Given the description of an element on the screen output the (x, y) to click on. 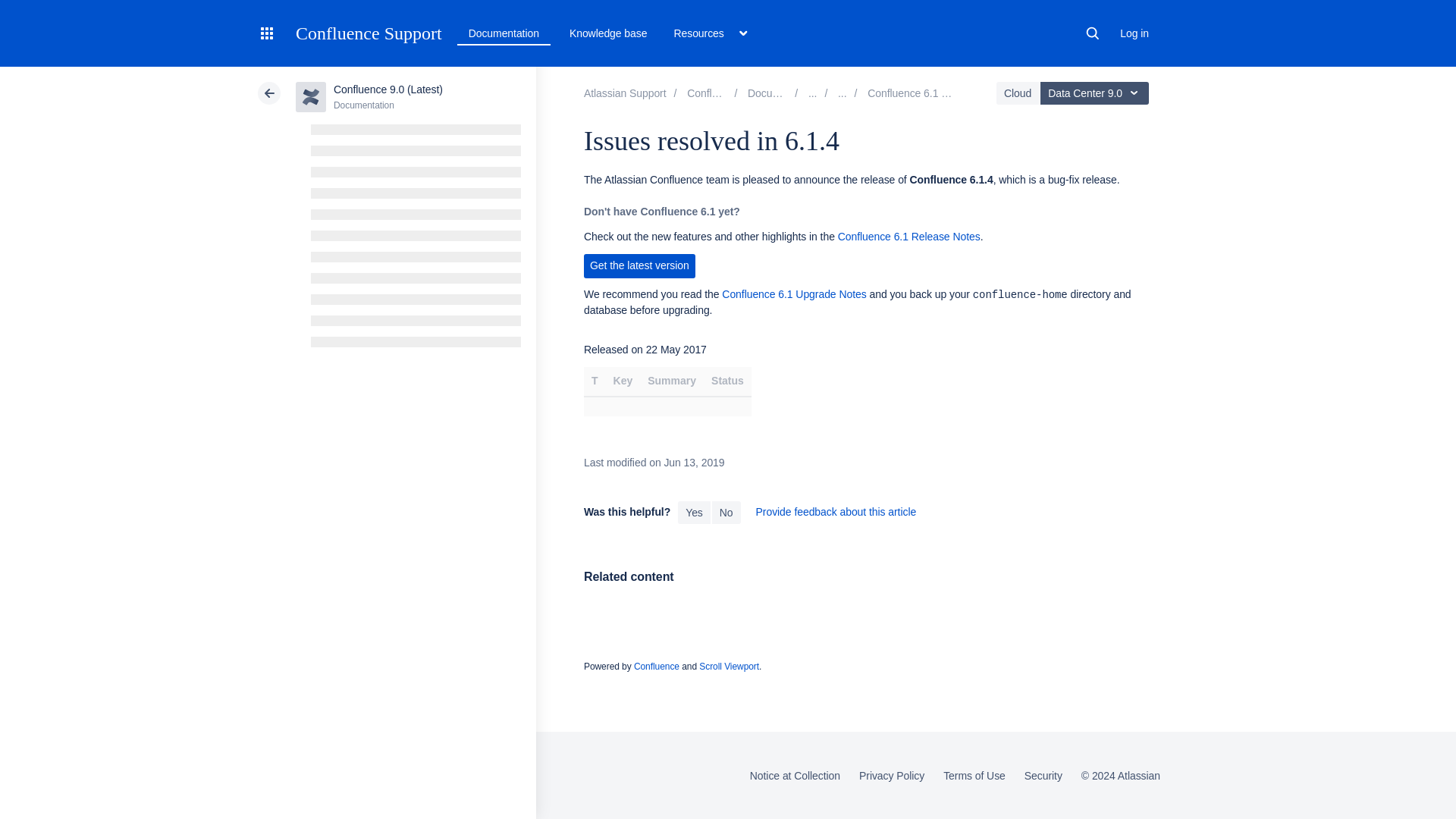
Confluence Support (368, 33)
Confluence (722, 92)
Knowledge base (608, 33)
Atlassian Support (624, 92)
Search (1092, 33)
Log in (1133, 33)
Confluence 6.1 Release Notes (938, 92)
Documentation (504, 33)
